Given the description of an element on the screen output the (x, y) to click on. 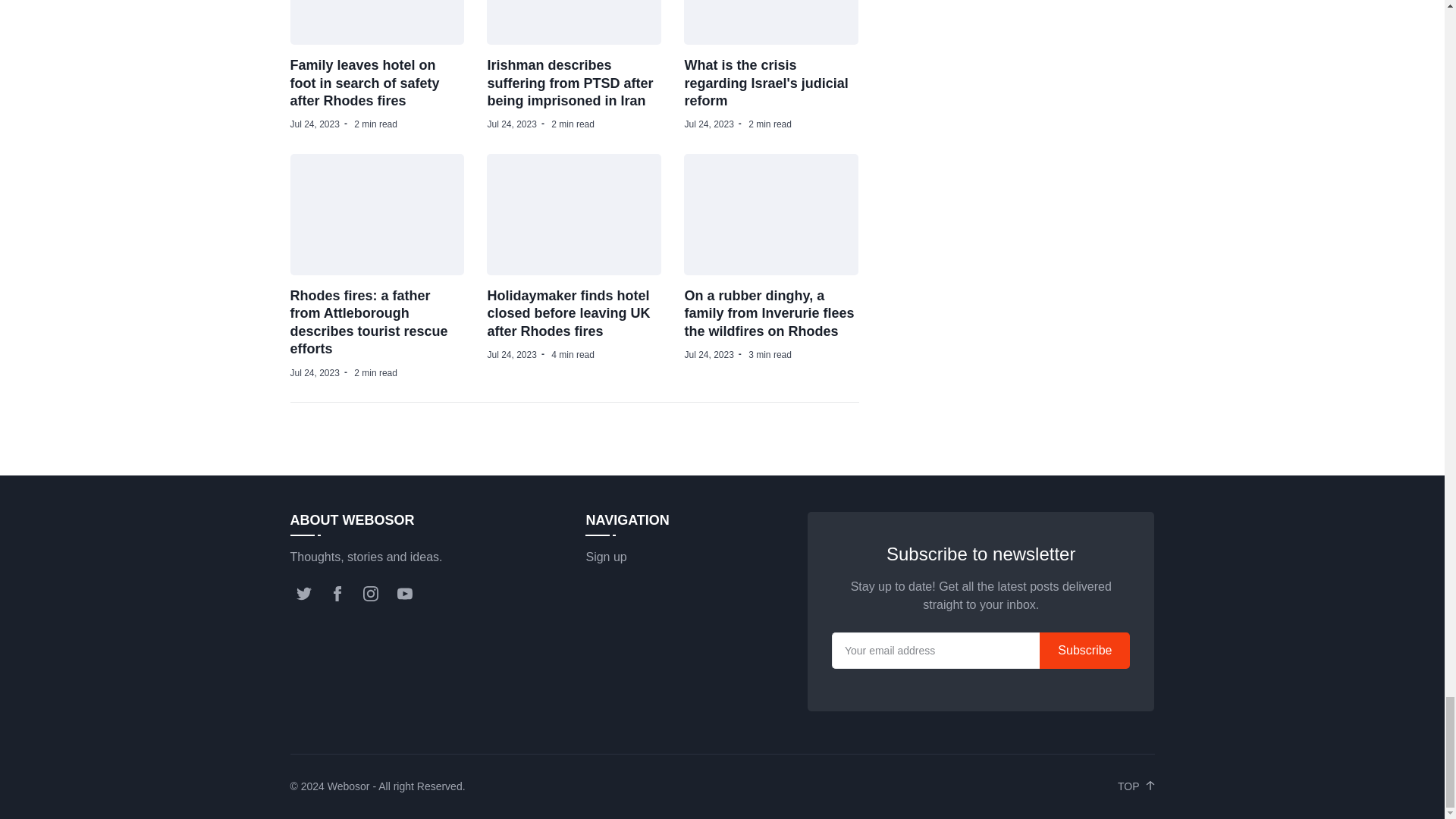
What is the crisis regarding Israel's judicial reform (765, 82)
